Given the description of an element on the screen output the (x, y) to click on. 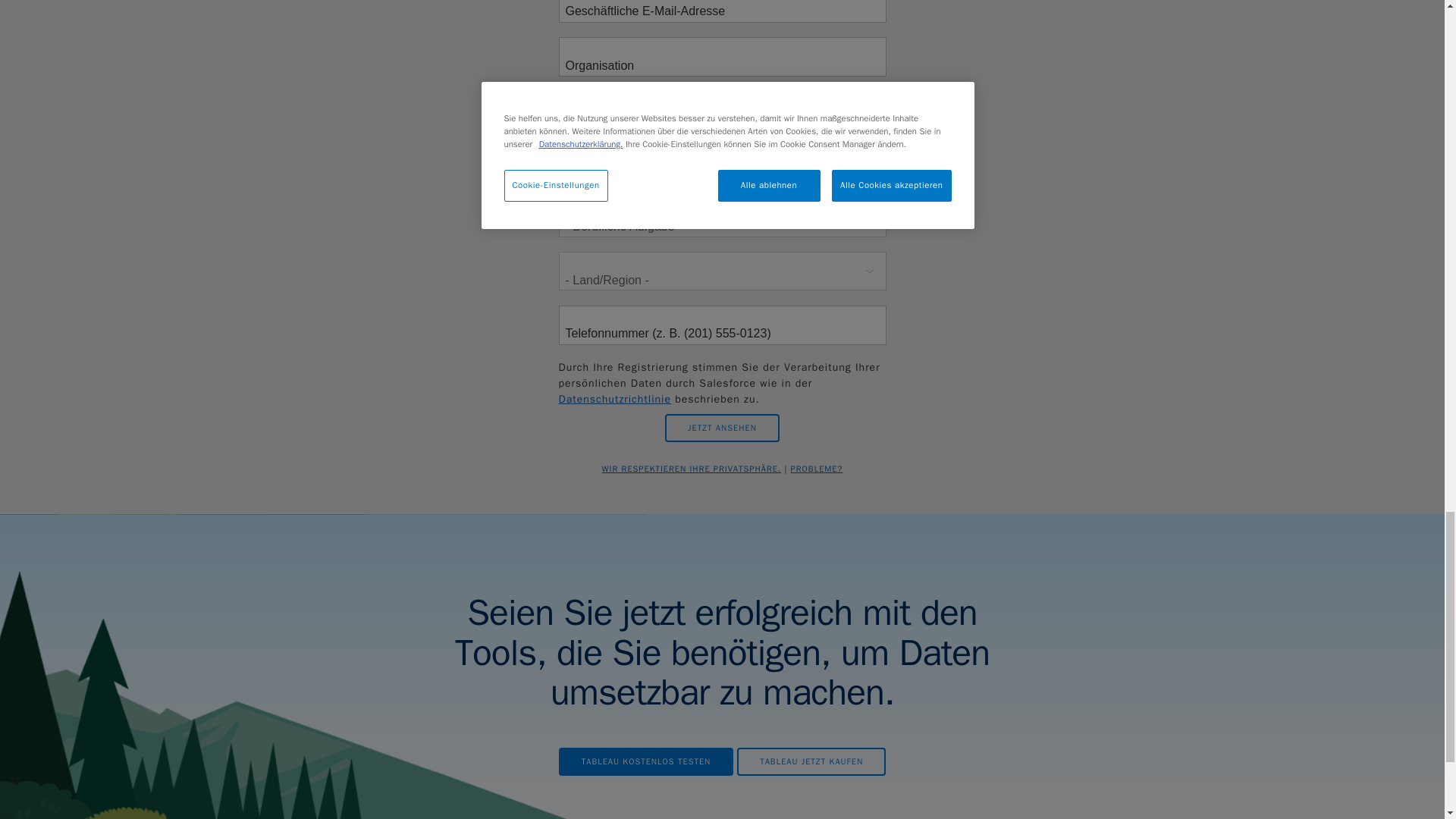
Jetzt ansehen (721, 428)
